Given the description of an element on the screen output the (x, y) to click on. 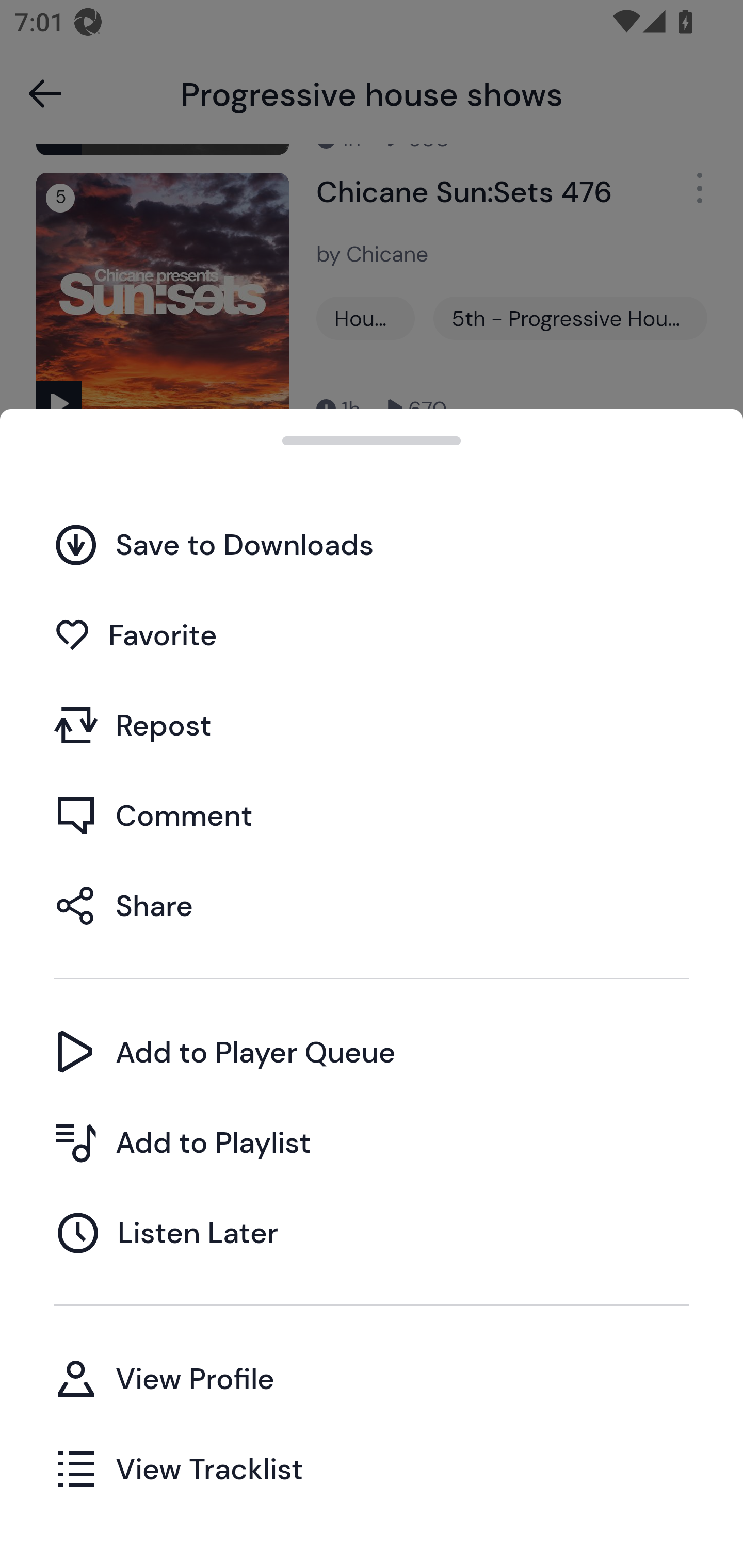
Save to Downloads (371, 543)
Favorite (371, 634)
Repost (371, 724)
Comment (371, 814)
Share (371, 905)
Add to Player Queue (371, 1051)
Add to Playlist (371, 1141)
Listen Later (371, 1231)
View Profile (371, 1377)
View Tracklist (371, 1468)
